Given the description of an element on the screen output the (x, y) to click on. 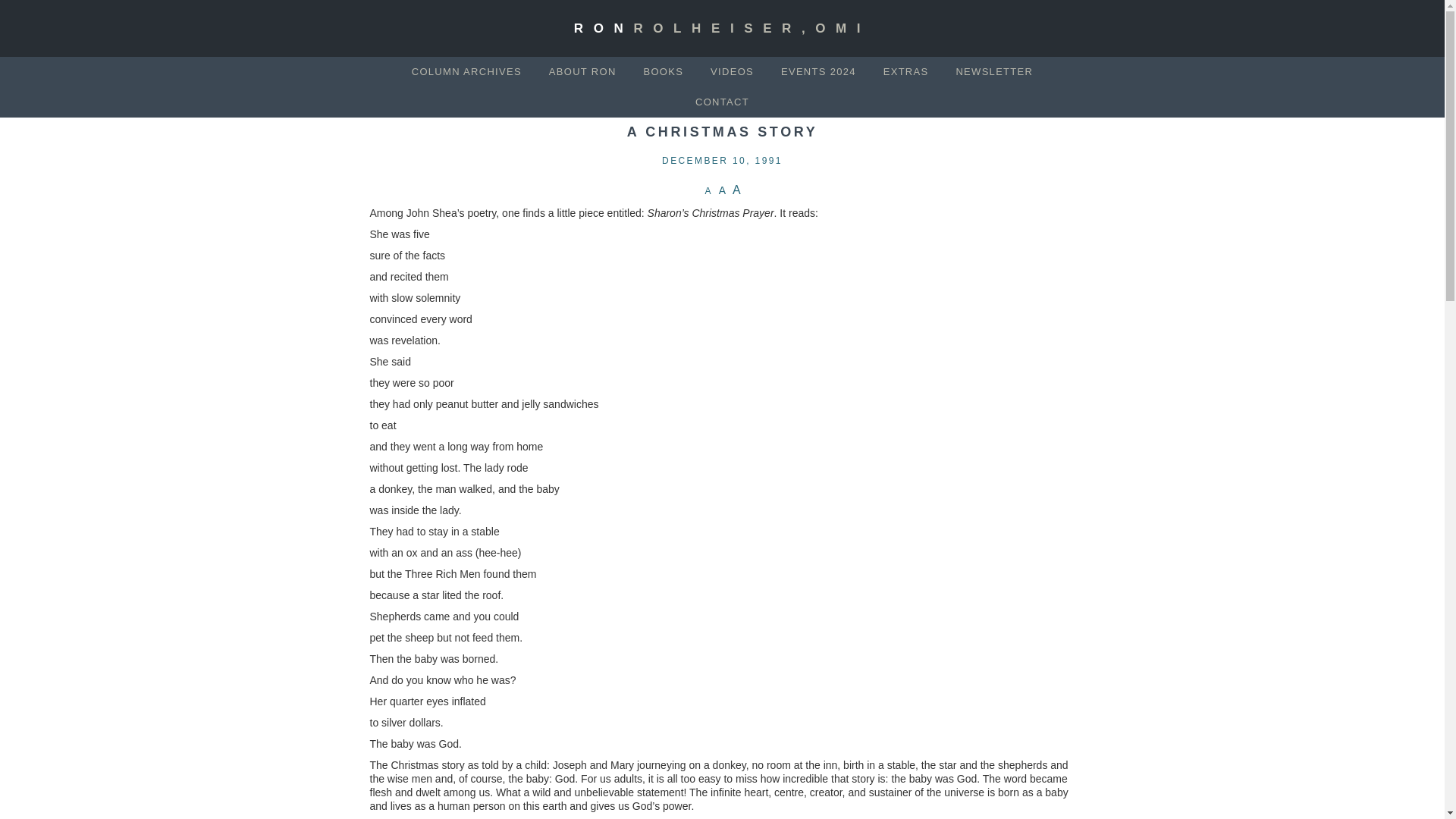
COLUMN ARCHIVES (466, 71)
NEWSLETTER (993, 71)
ABOUT RON (581, 71)
RONROLHEISER,OMI (721, 28)
CONTACT (722, 101)
VIDEOS (732, 71)
BOOKS (662, 71)
EVENTS 2024 (818, 71)
EXTRAS (905, 71)
